Given the description of an element on the screen output the (x, y) to click on. 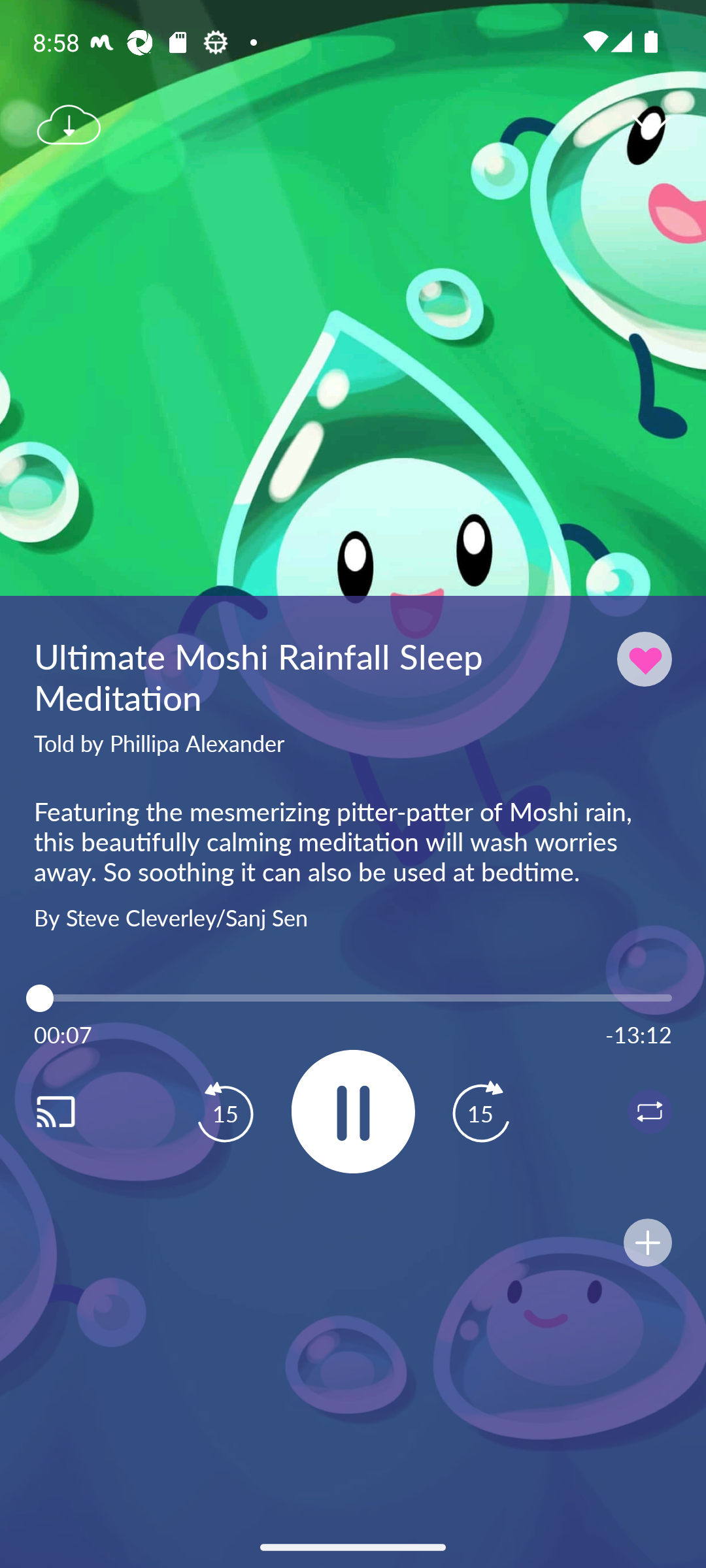
7.0 (352, 997)
Cast. Disconnected (76, 1111)
